Given the description of an element on the screen output the (x, y) to click on. 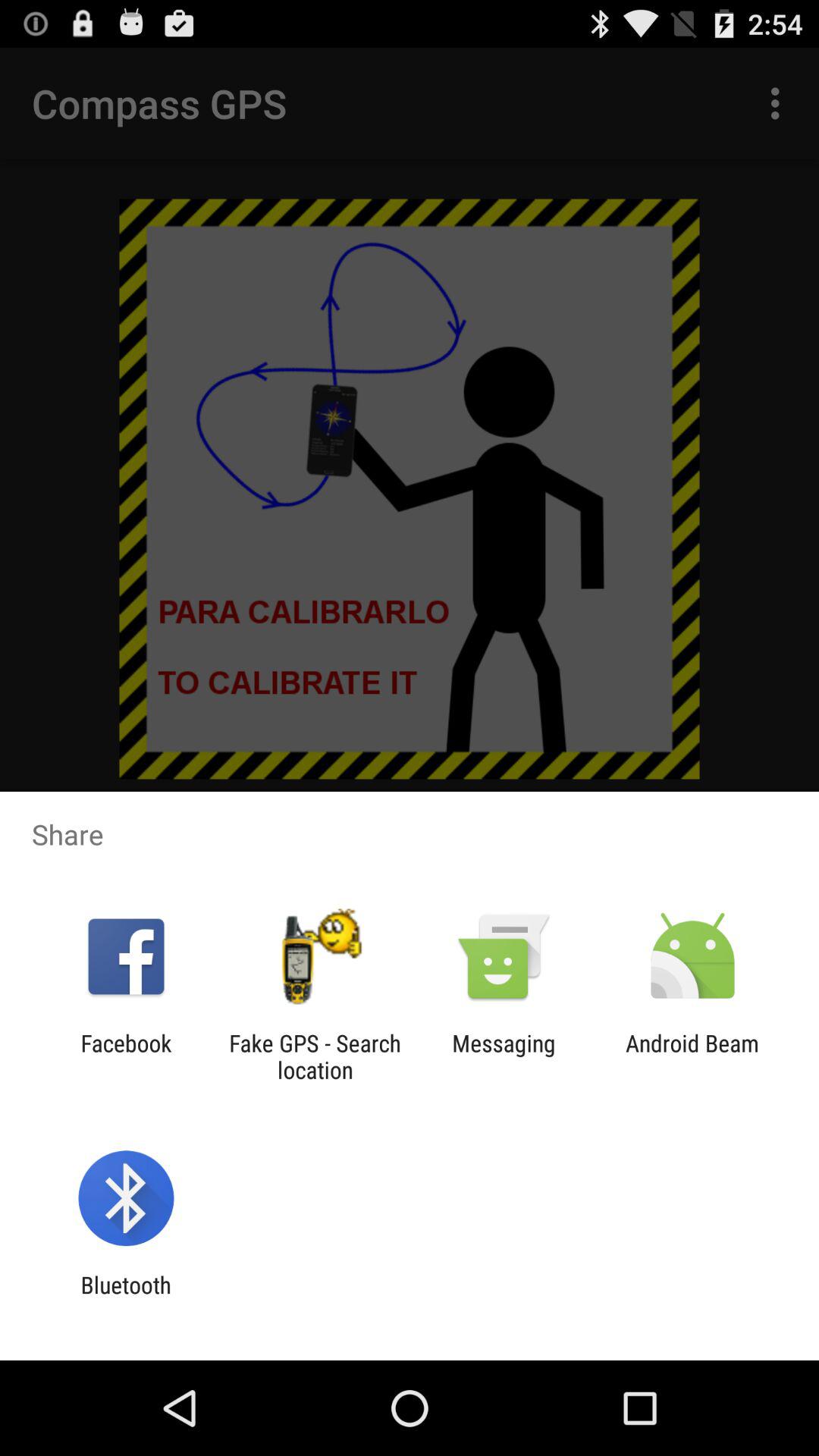
select the android beam (692, 1056)
